Given the description of an element on the screen output the (x, y) to click on. 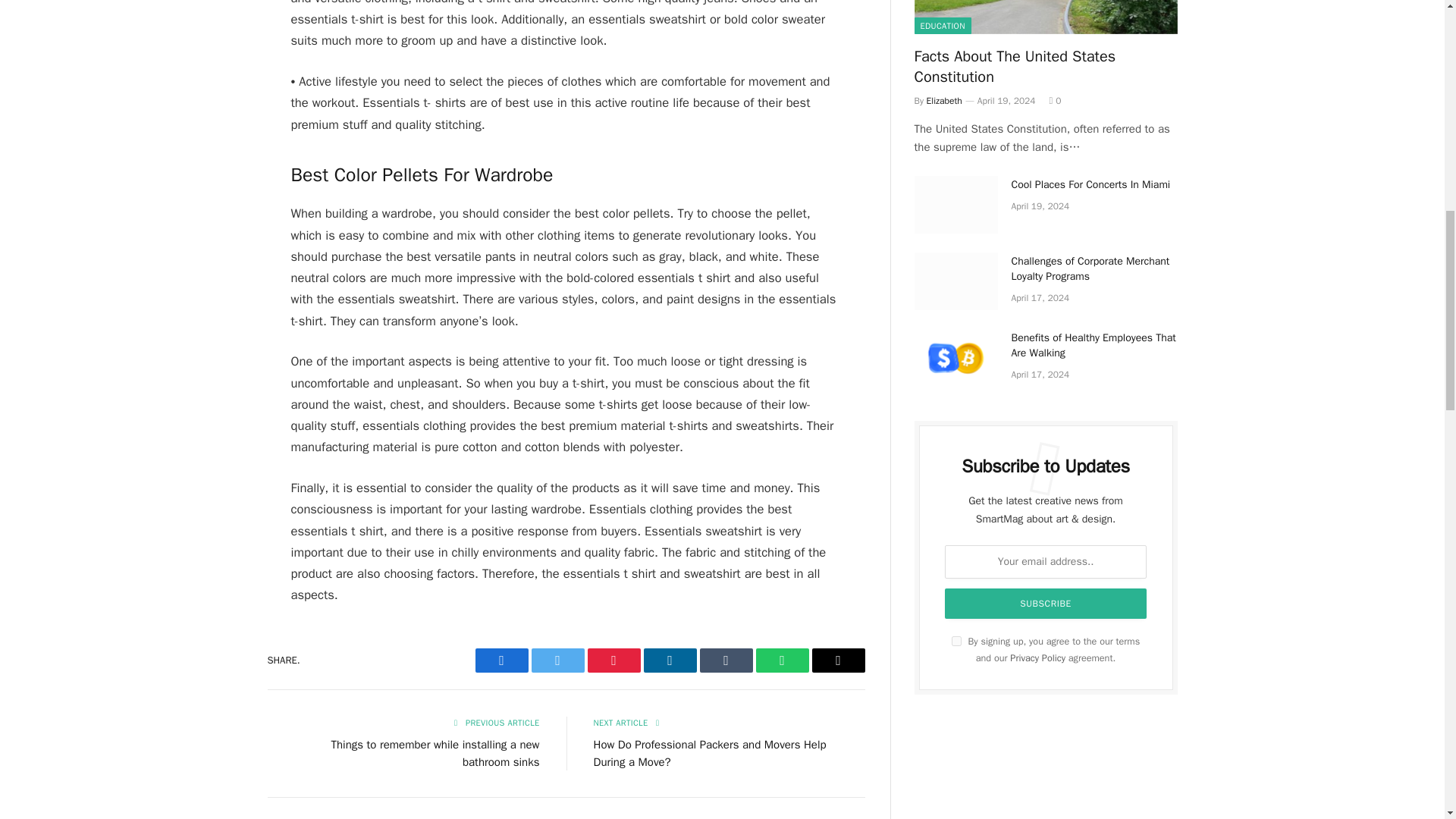
Subscribe (1045, 603)
on (956, 641)
